Given the description of an element on the screen output the (x, y) to click on. 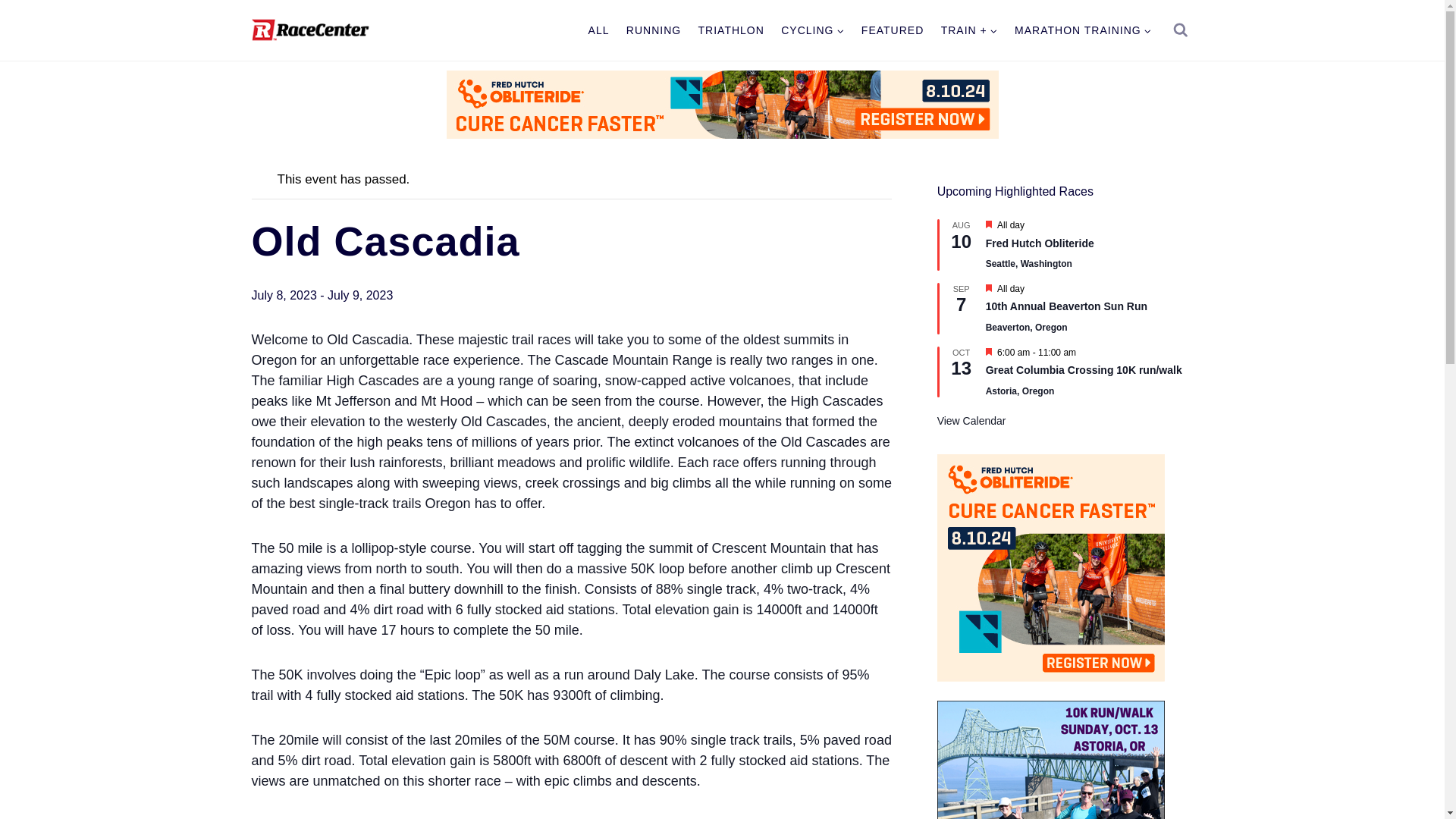
FEATURED (893, 30)
MARATHON TRAINING (1083, 30)
ALL (598, 30)
RUNNING (653, 30)
10th Annual Beaverton Sun Run (1066, 306)
Fred Hutch Obliteride (1039, 243)
Seattle, Washington (1028, 264)
TRIATHLON (730, 30)
Fred Hutch Obliteride (1039, 243)
10th Annual Beaverton Sun Run (1066, 306)
Beaverton, Oregon (1026, 327)
CYCLING (813, 30)
View more events. (971, 420)
